Given the description of an element on the screen output the (x, y) to click on. 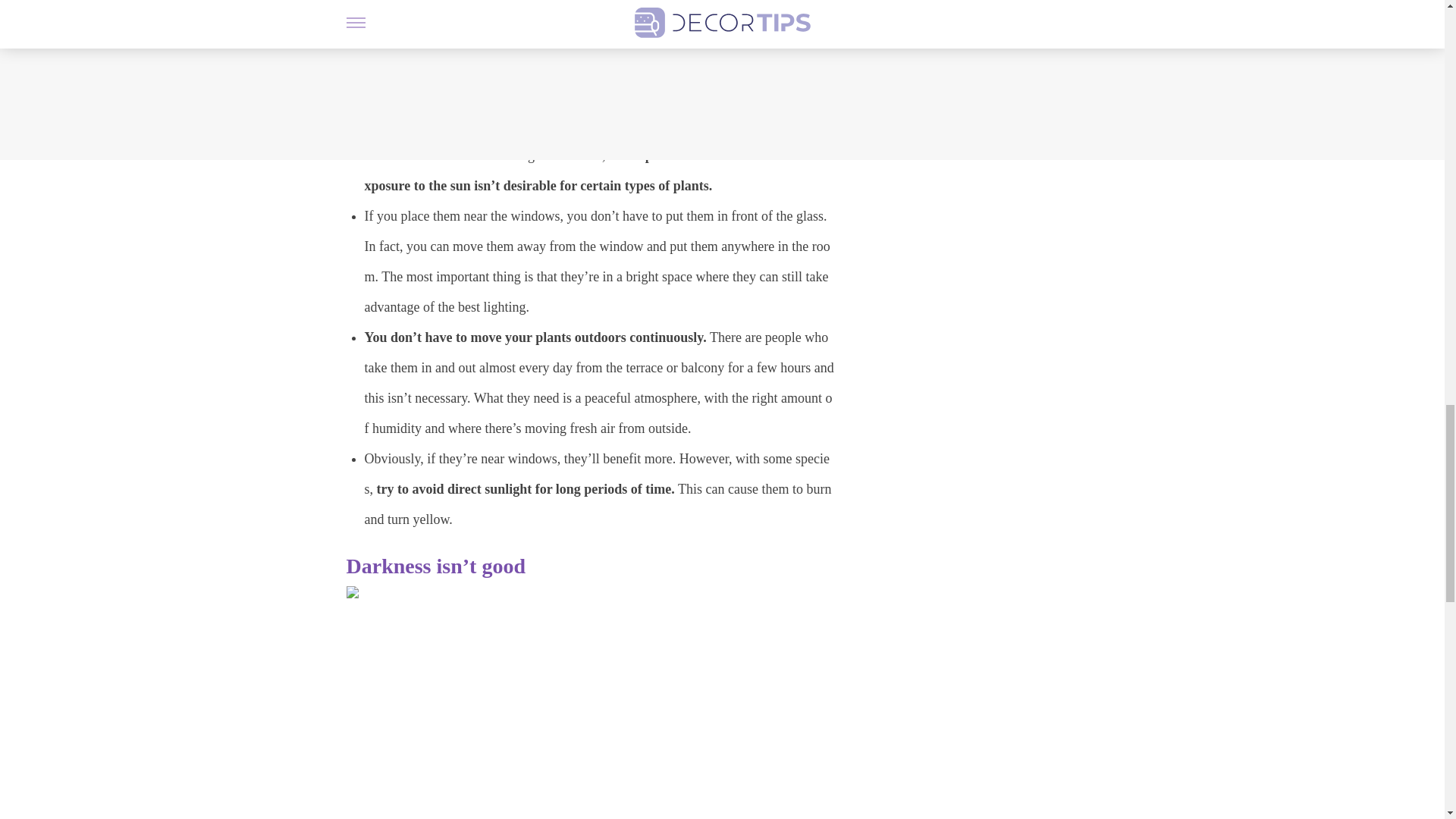
depending on the species (608, 125)
